Given the description of an element on the screen output the (x, y) to click on. 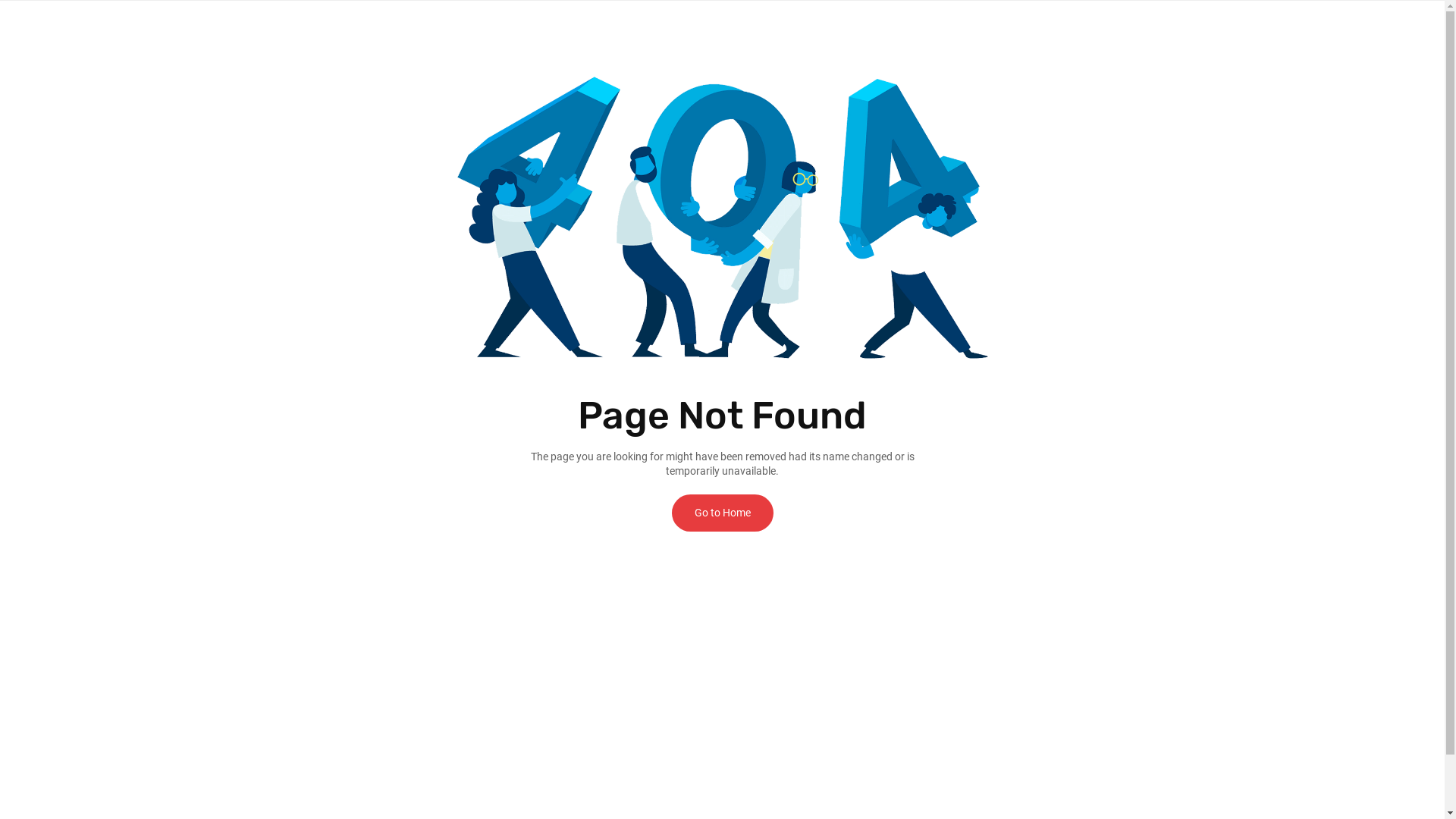
Go to Home Element type: text (722, 512)
